Given the description of an element on the screen output the (x, y) to click on. 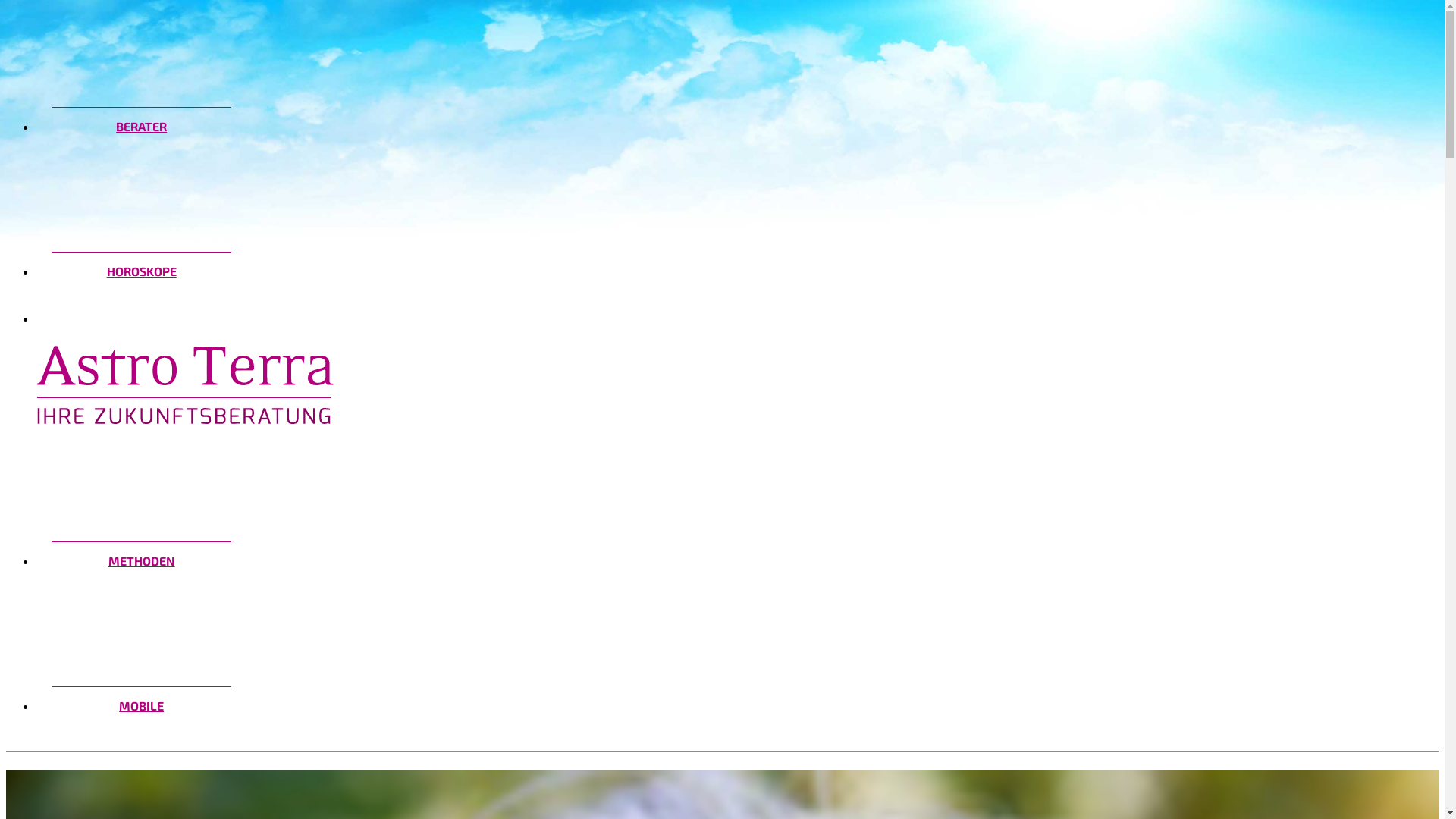
METHODEN Element type: text (141, 560)
Astromondial - Ihre Zukunftsberatung Element type: text (185, 361)
BERATER Element type: text (141, 125)
MOBILE Element type: text (141, 705)
HOROSKOPE Element type: text (141, 270)
